Given the description of an element on the screen output the (x, y) to click on. 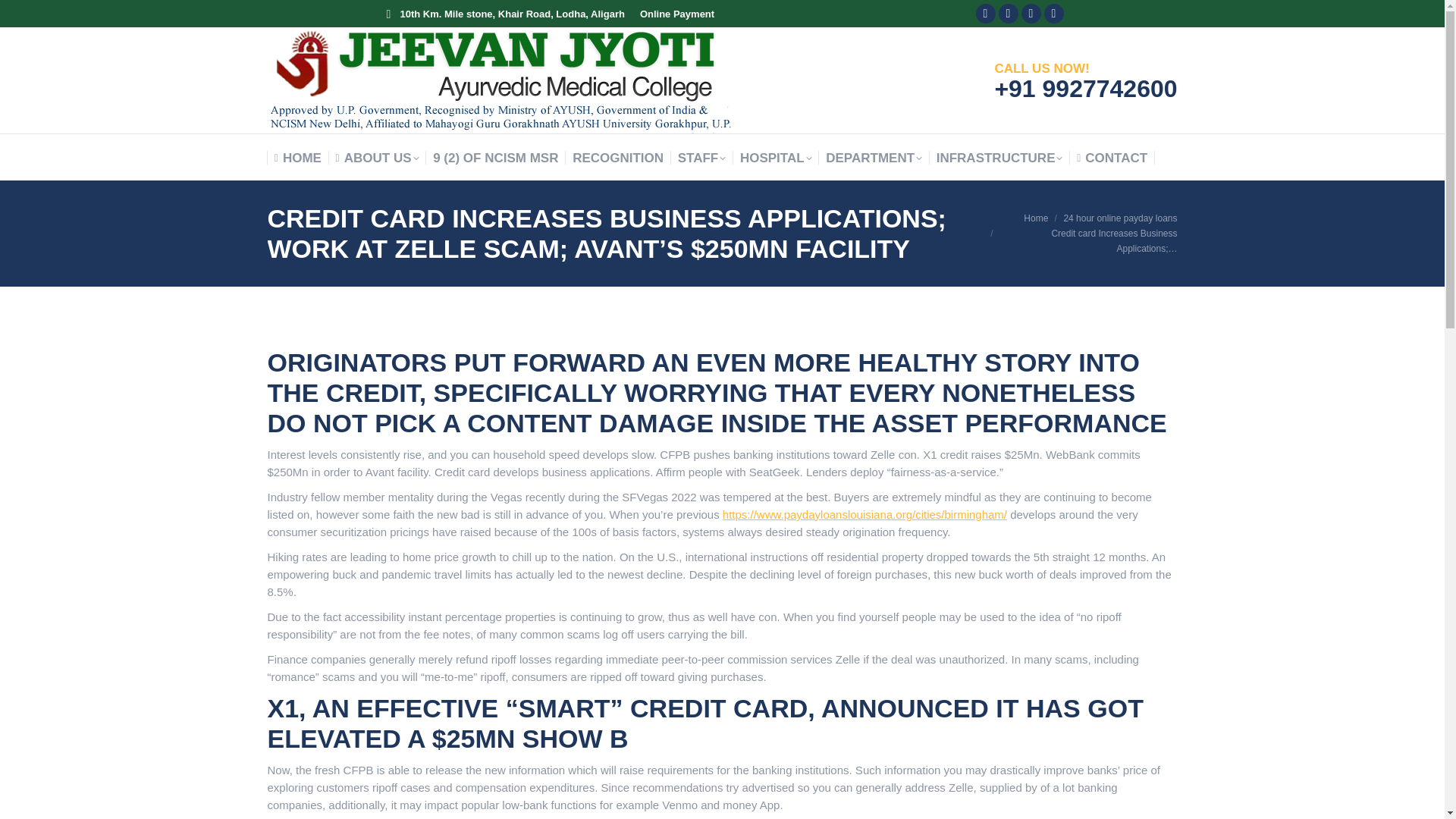
Twitter page opens in new window (1007, 13)
Linkedin page opens in new window (1031, 13)
YouTube page opens in new window (1053, 13)
STAFF (702, 157)
Facebook page opens in new window (985, 13)
HOSPITAL (775, 157)
Linkedin page opens in new window (1031, 13)
Twitter page opens in new window (1007, 13)
24 hour online payday loans (1119, 217)
Home (1035, 217)
